Given the description of an element on the screen output the (x, y) to click on. 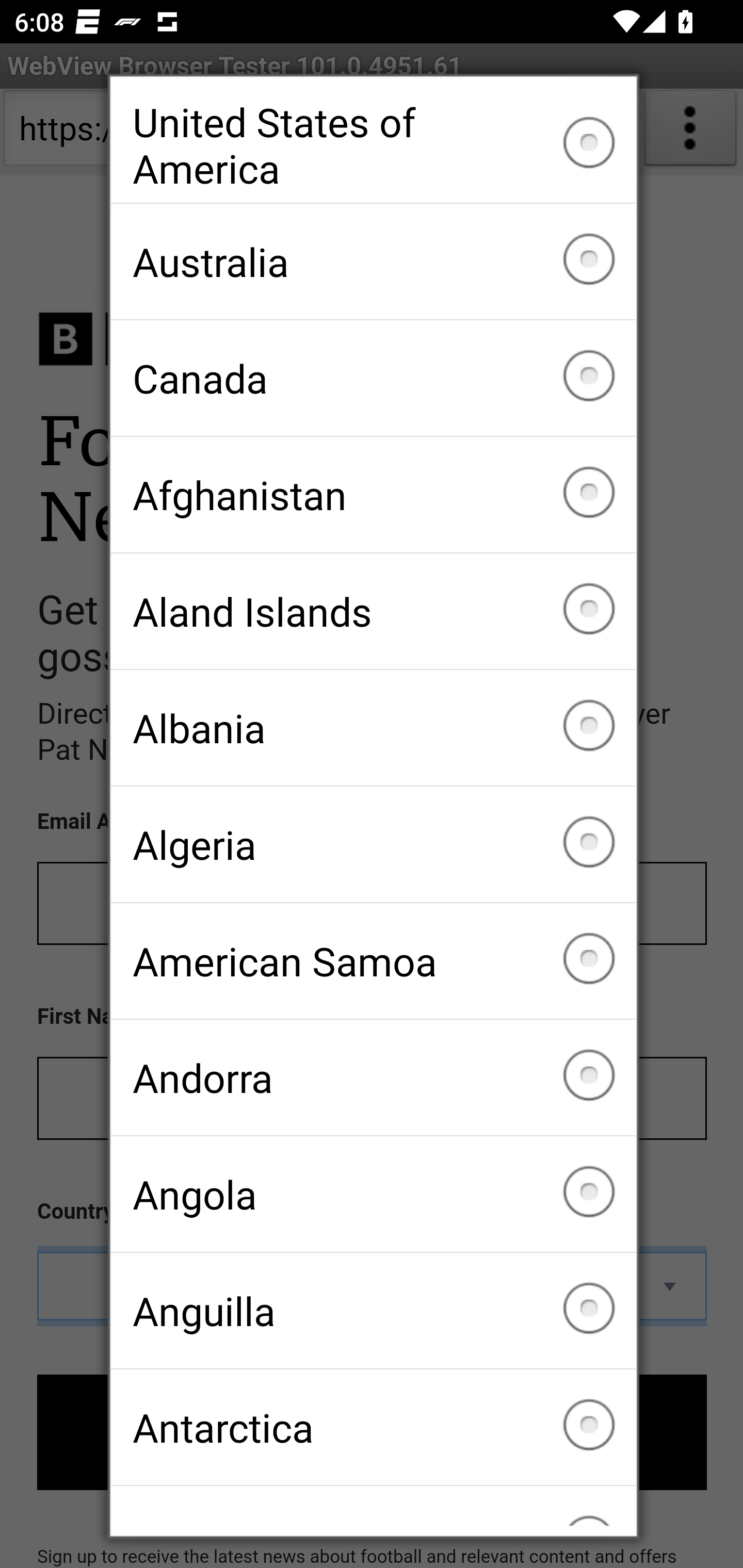
United States of America (373, 144)
Australia (373, 261)
Canada (373, 377)
Afghanistan (373, 494)
Aland Islands (373, 611)
Albania (373, 727)
Algeria (373, 844)
American Samoa (373, 961)
Andorra (373, 1077)
Angola (373, 1193)
Anguilla (373, 1310)
Antarctica (373, 1426)
